Given the description of an element on the screen output the (x, y) to click on. 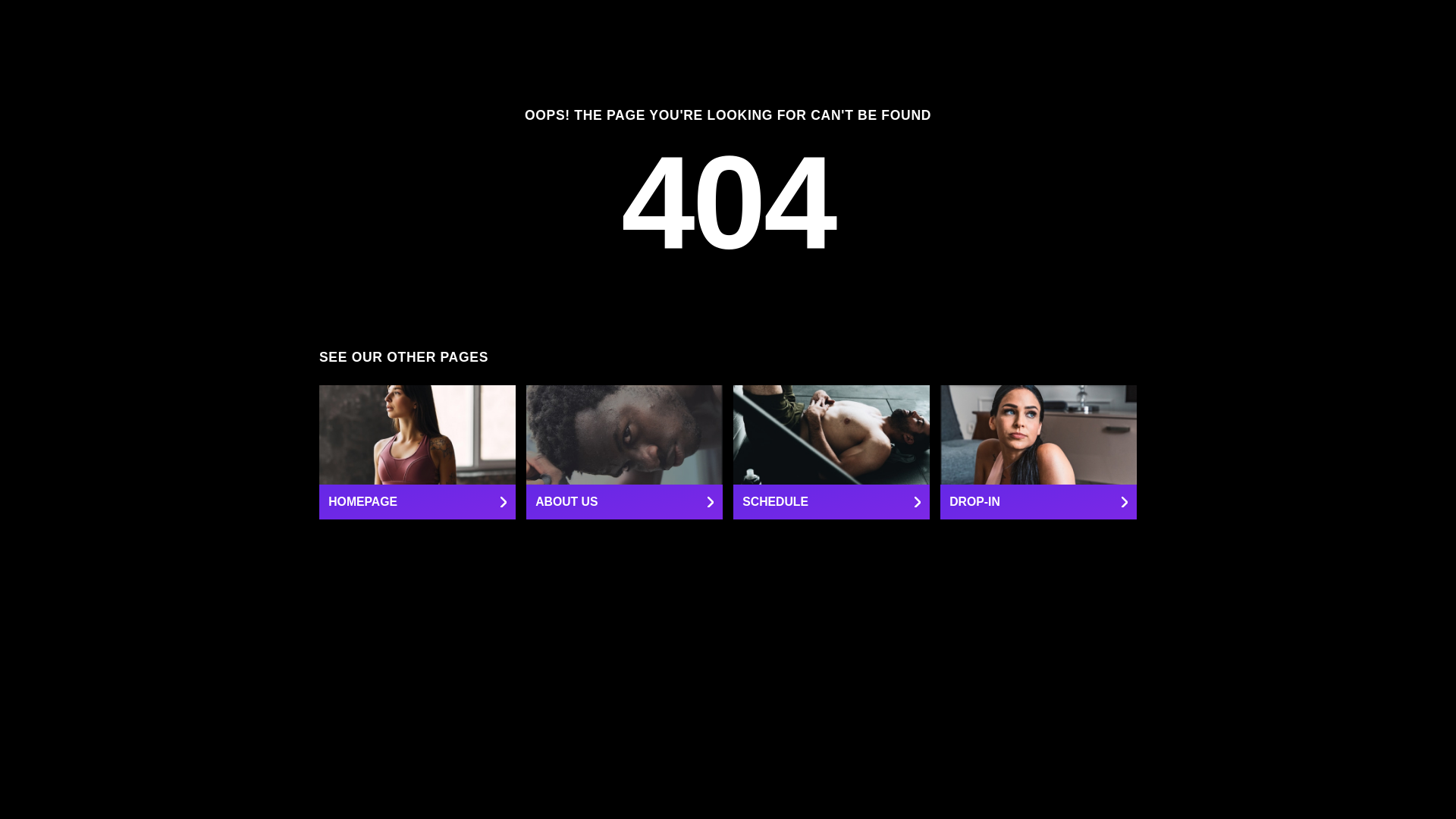
ABOUT US (623, 452)
DROP-IN (1038, 452)
SCHEDULE (831, 452)
HOMEPAGE (416, 452)
